Given the description of an element on the screen output the (x, y) to click on. 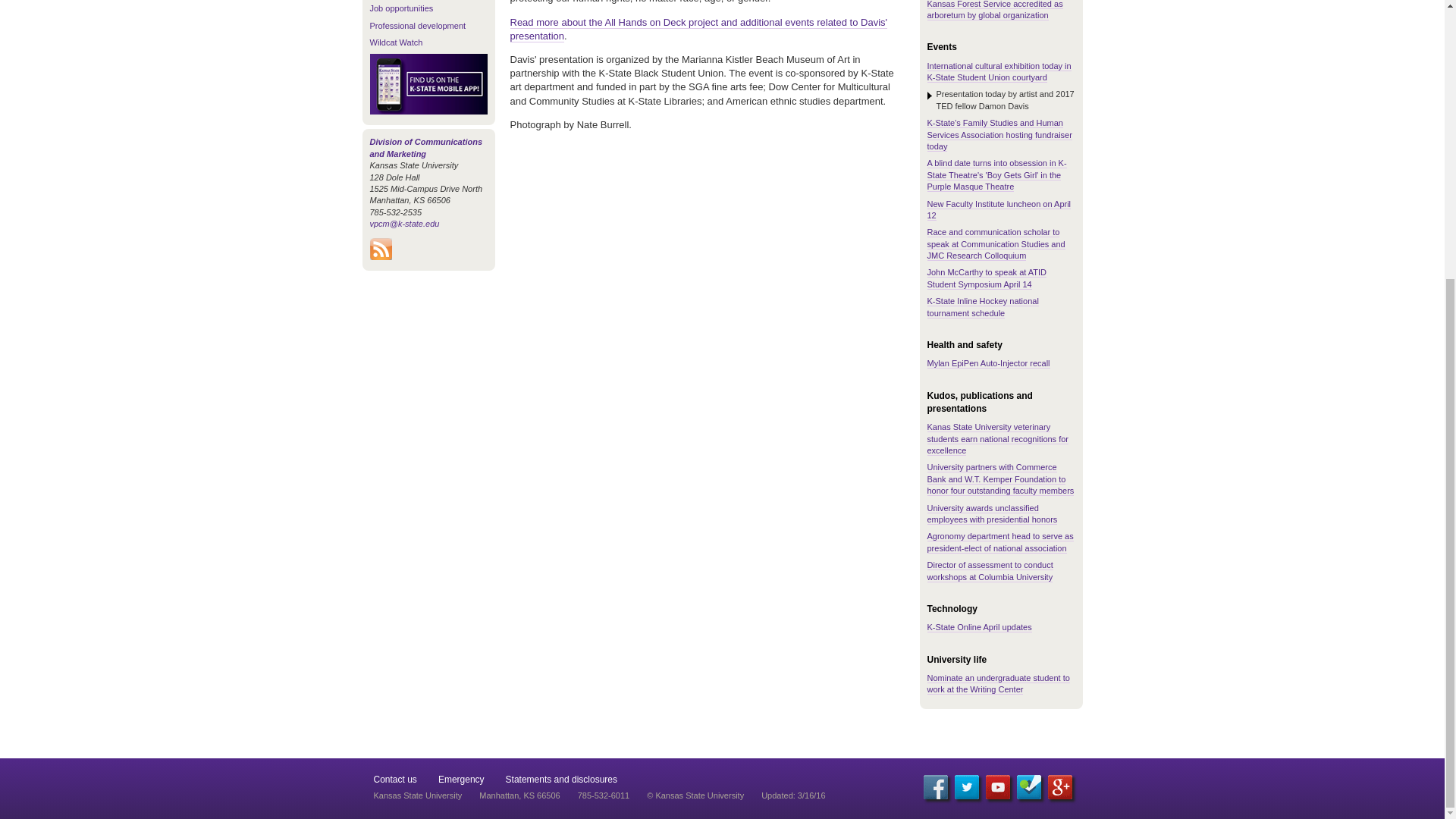
Job opportunities (401, 8)
Professional development (417, 25)
Subscribe to K-State Today RSS feeds (380, 256)
Division of Communications and Marketing (426, 147)
